Given the description of an element on the screen output the (x, y) to click on. 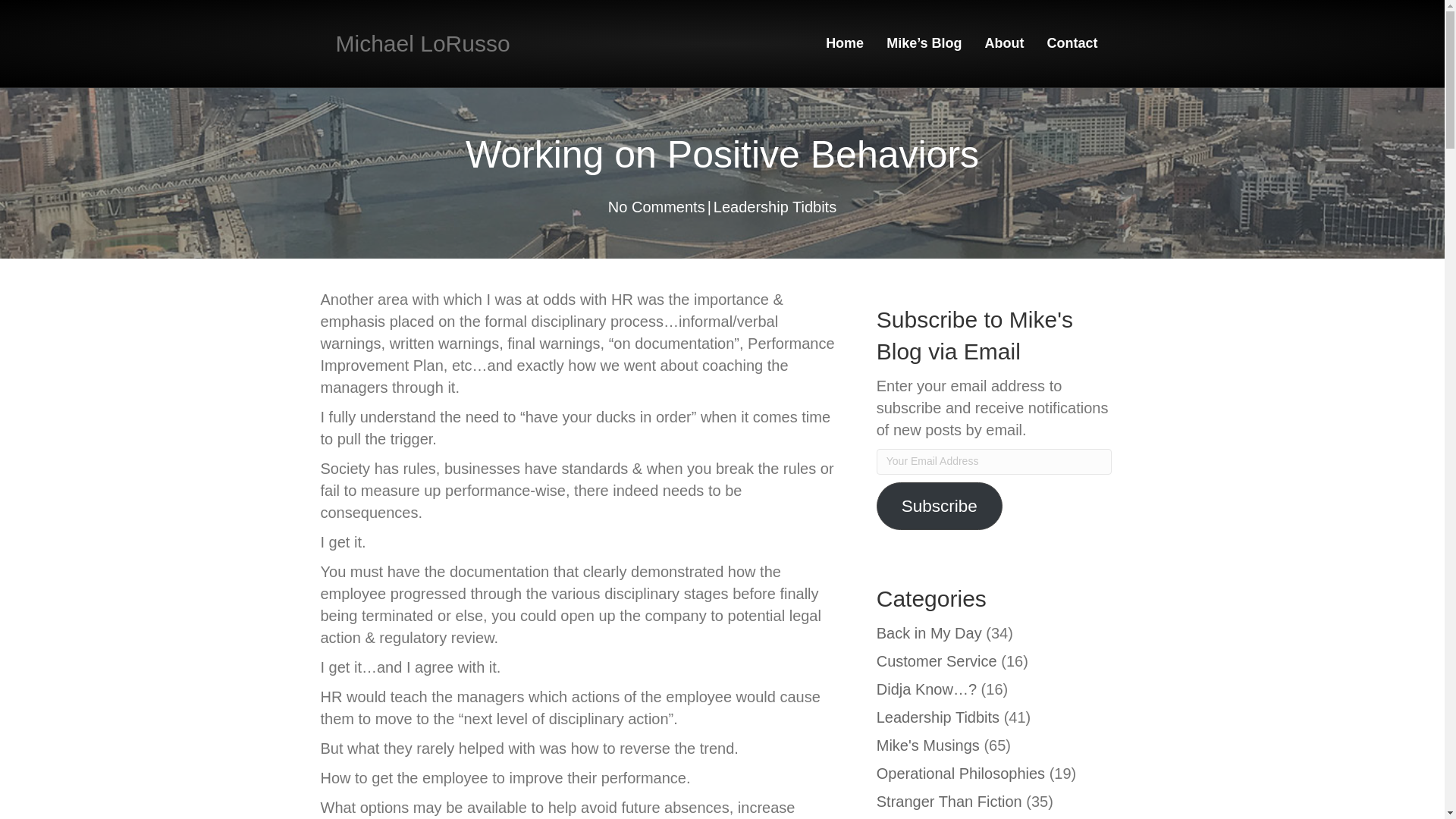
No Comments (656, 207)
Operational Philosophies (960, 773)
Home (844, 43)
Leadership Tidbits (774, 207)
Mike's Musings (927, 745)
Stranger Than Fiction (949, 801)
Subscribe (939, 505)
Contact (1071, 43)
About (1004, 43)
Michael LoRusso (457, 43)
